Given the description of an element on the screen output the (x, y) to click on. 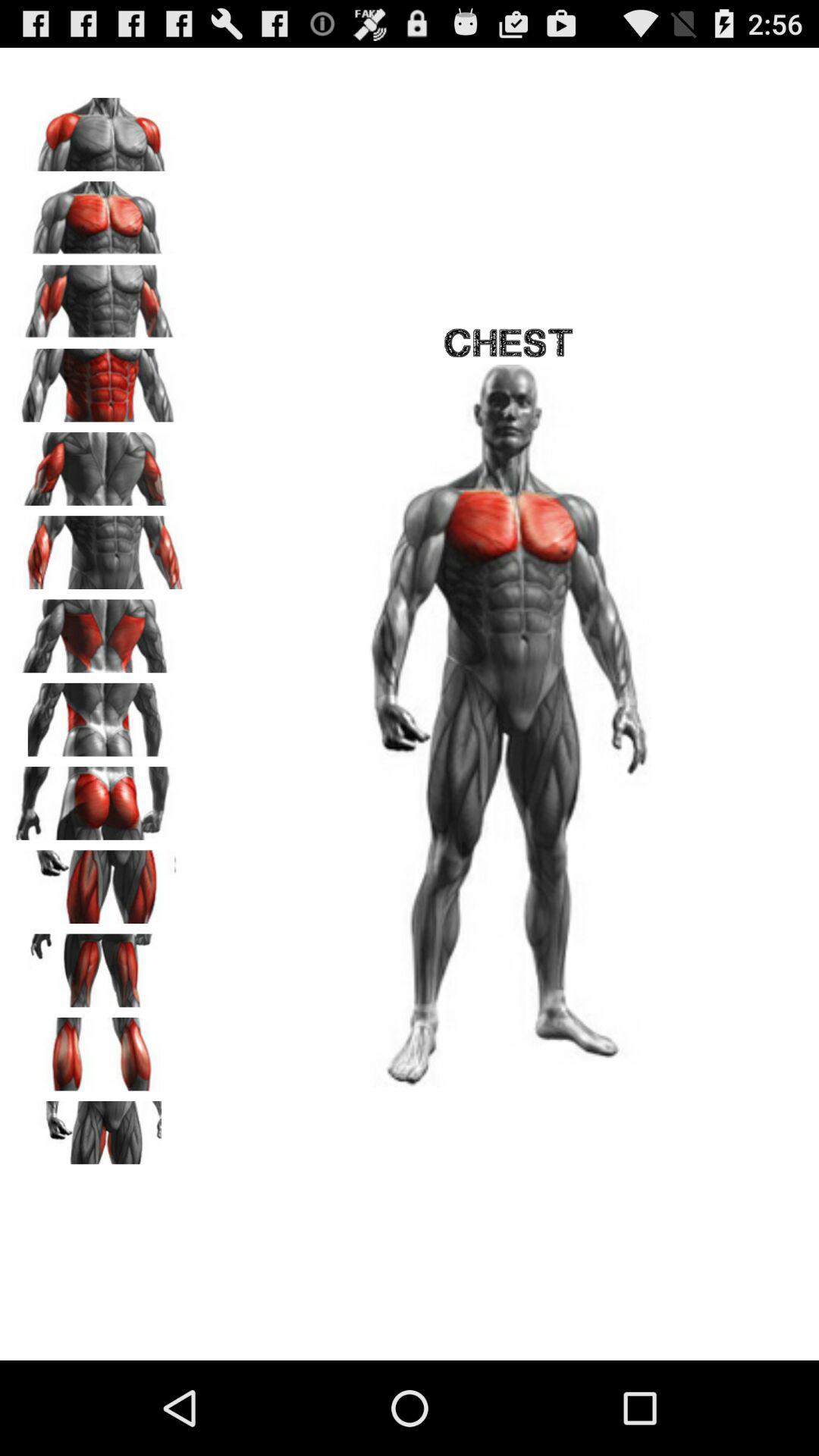
switch view area (99, 380)
